Given the description of an element on the screen output the (x, y) to click on. 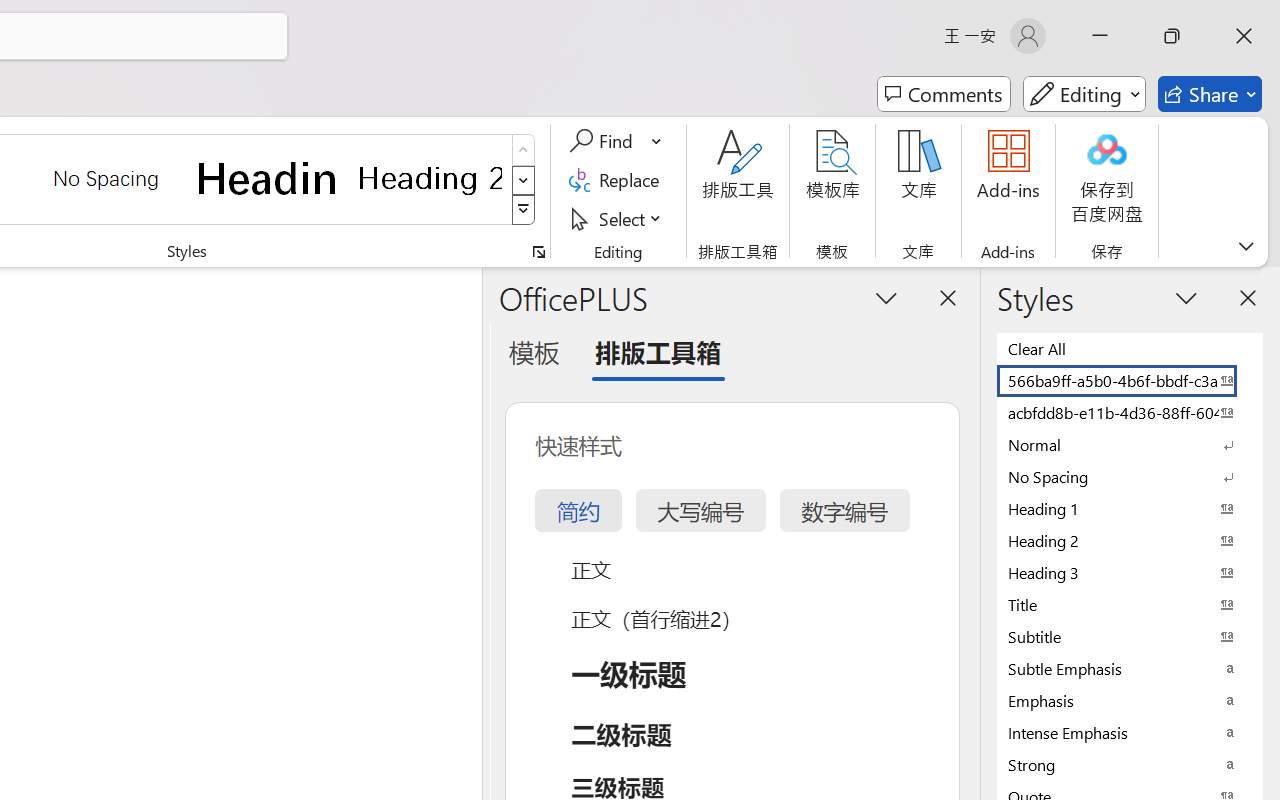
Normal (1130, 444)
Class: NetUIImage (523, 210)
No Spacing (1130, 476)
Emphasis (1130, 700)
Subtitle (1130, 636)
Row Down (523, 180)
Replace... (617, 179)
Intense Emphasis (1130, 732)
Minimize (1099, 36)
566ba9ff-a5b0-4b6f-bbdf-c3ab41993fc2 (1130, 380)
